Given the description of an element on the screen output the (x, y) to click on. 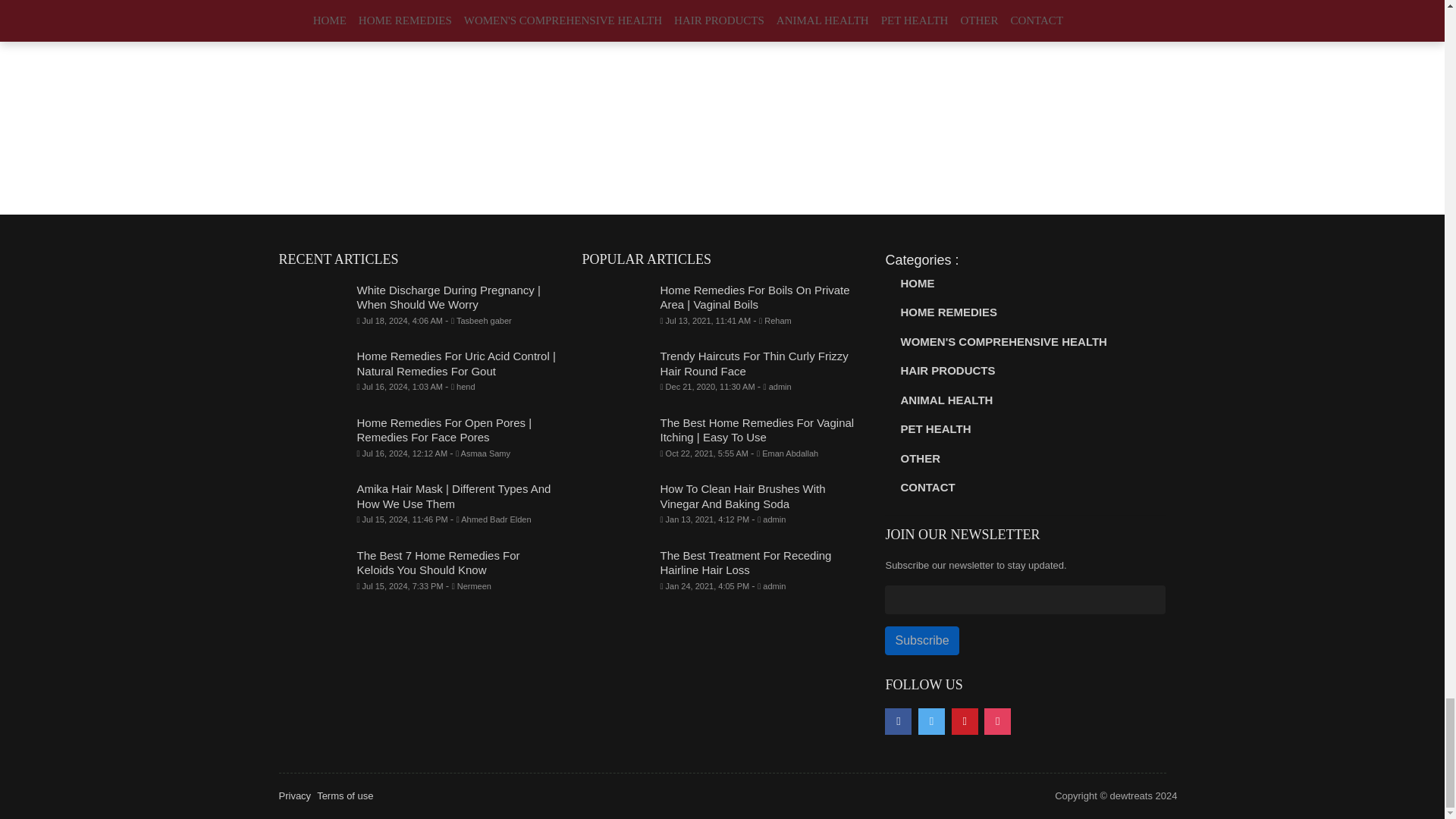
Subscribe (921, 640)
